Given the description of an element on the screen output the (x, y) to click on. 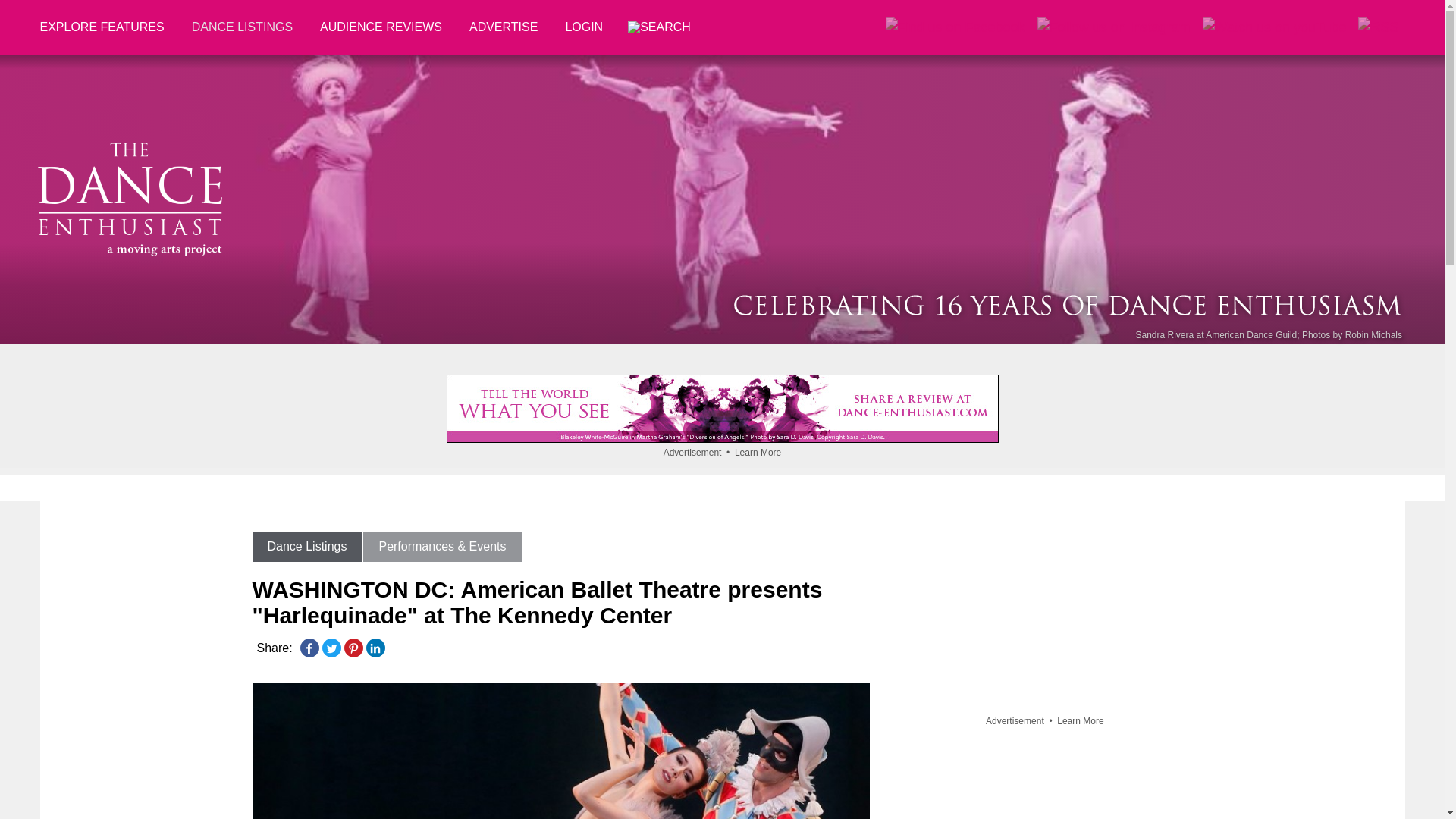
AUDIENCE REVIEWS (380, 27)
Pinterest (353, 648)
Twitter (331, 648)
DANCE LISTINGS (241, 27)
LinkedIn (375, 648)
Facebook (309, 648)
EXPLORE FEATURES (108, 27)
ADVERTISE (503, 27)
LOGIN (583, 27)
